Given the description of an element on the screen output the (x, y) to click on. 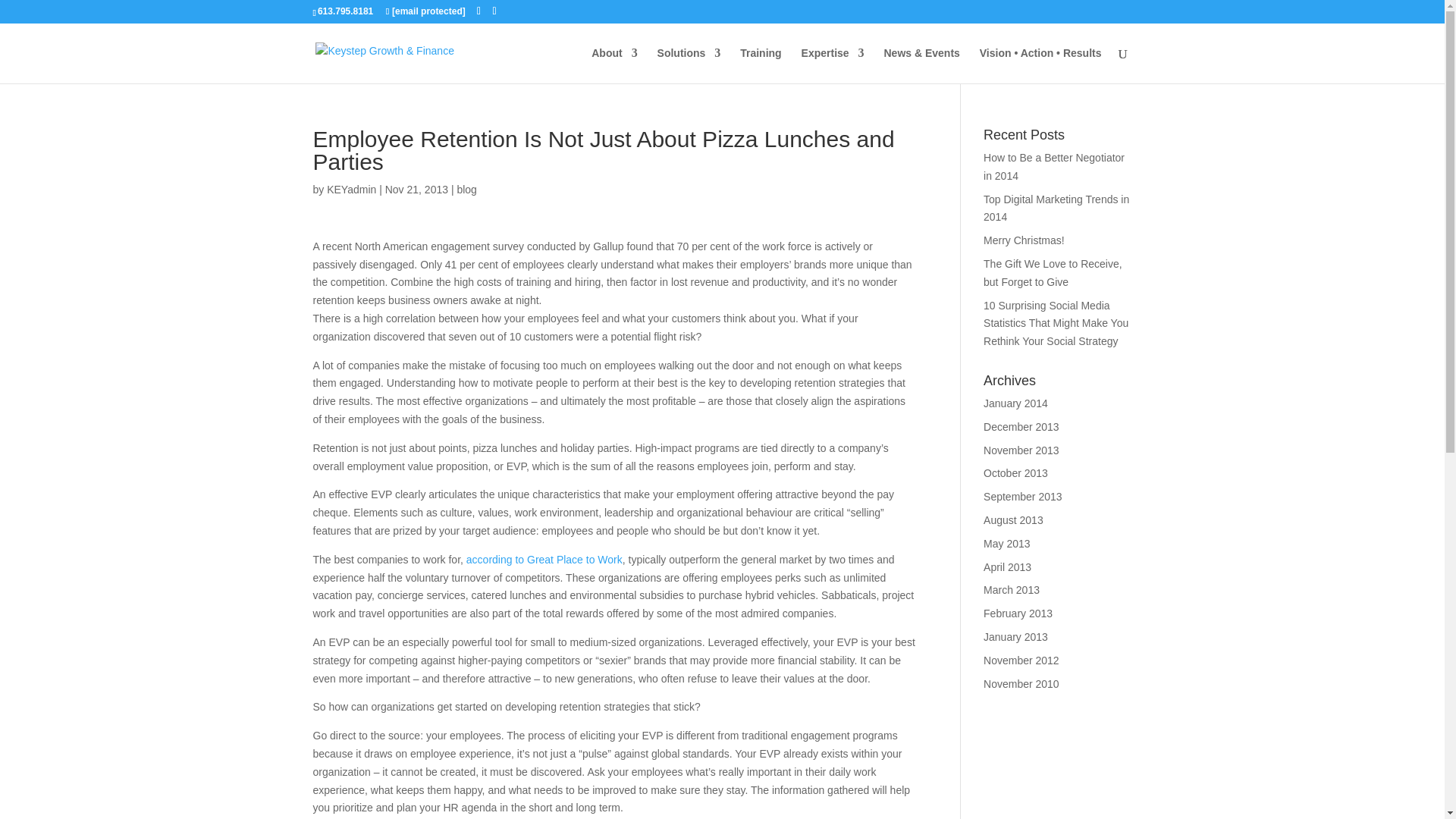
according to Great Place to Work (544, 559)
blog (466, 189)
Expertise (833, 65)
Top Digital Marketing Trends in 2014 (1056, 208)
About (614, 65)
KEYadmin (350, 189)
Posts by KEYadmin (350, 189)
Solutions (689, 65)
Merry Christmas! (1024, 240)
How to Be a Better Negotiator in 2014 (1054, 166)
